Given the description of an element on the screen output the (x, y) to click on. 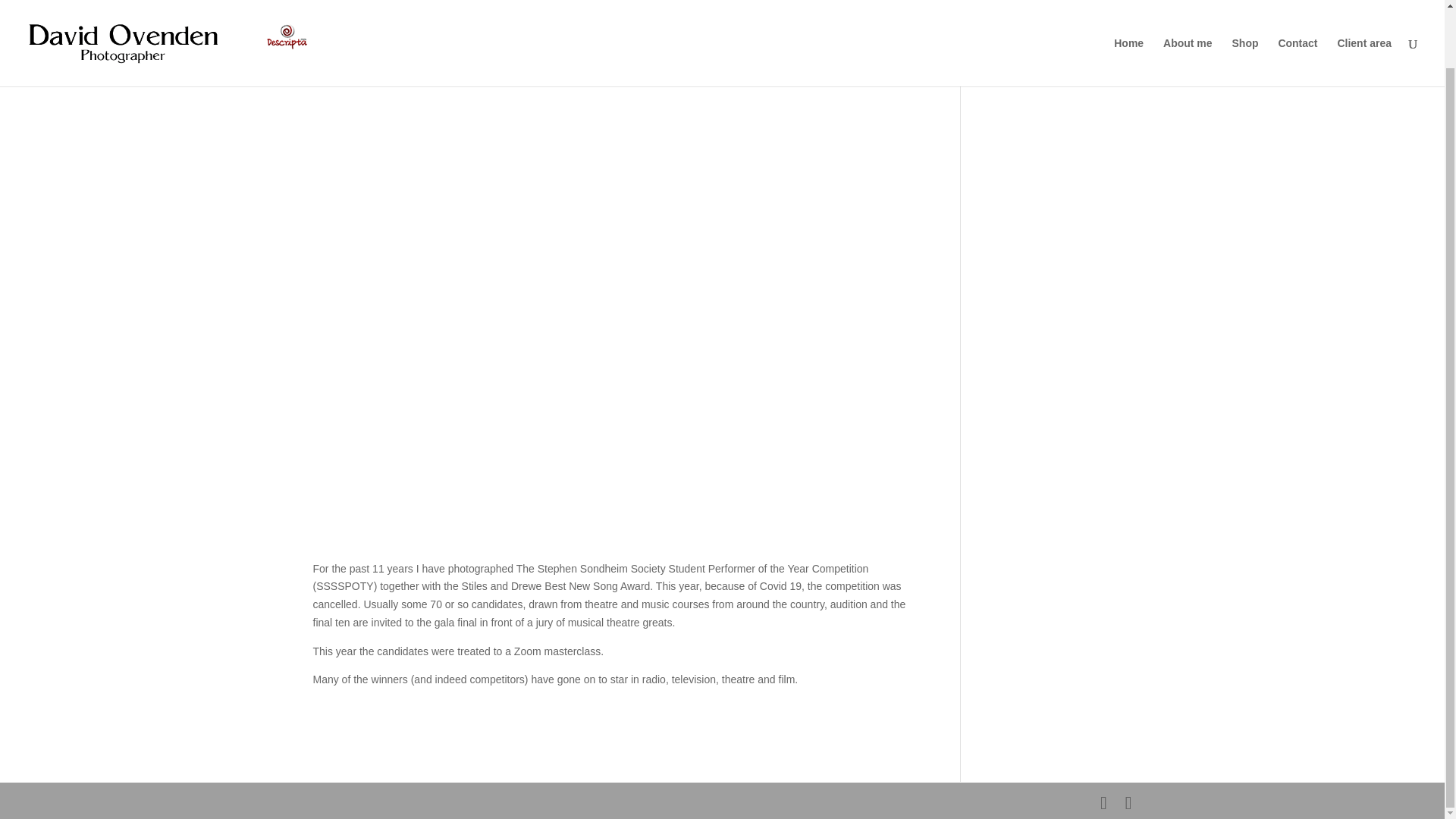
Contact (1297, 11)
Home (1127, 11)
Shop (1244, 11)
About me (1187, 11)
Client area (1363, 11)
